Given the description of an element on the screen output the (x, y) to click on. 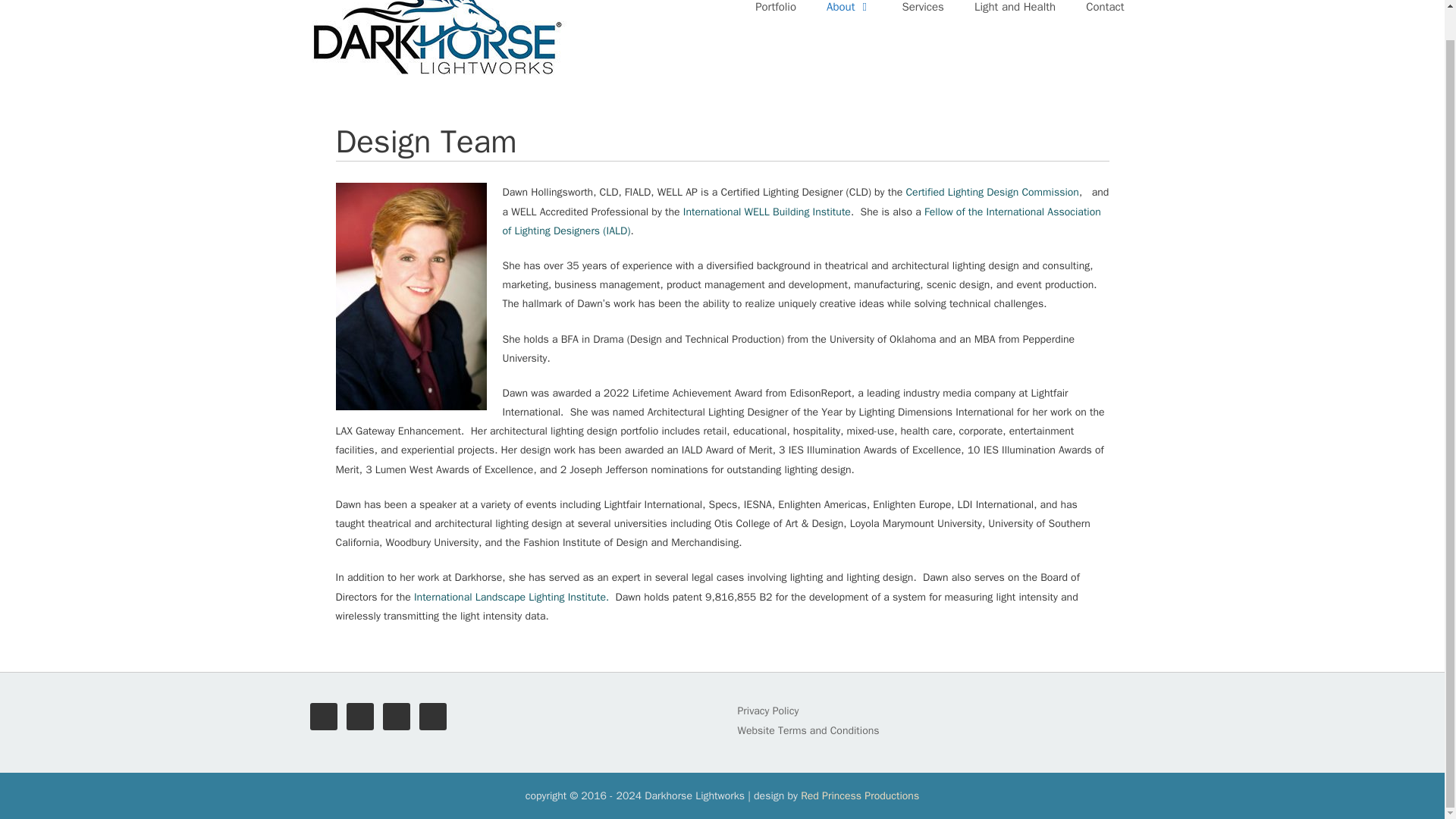
Certified Lighting Design Commission (991, 192)
Privacy Policy (766, 710)
About (848, 14)
Red Princess Productions (859, 795)
International WELL Building Institute (766, 211)
Light and Health (1014, 14)
Services (922, 14)
Contact (1104, 14)
Portfolio (774, 14)
Website Terms and Conditions (807, 730)
International Landscape Lighting Institute. (510, 596)
